Given the description of an element on the screen output the (x, y) to click on. 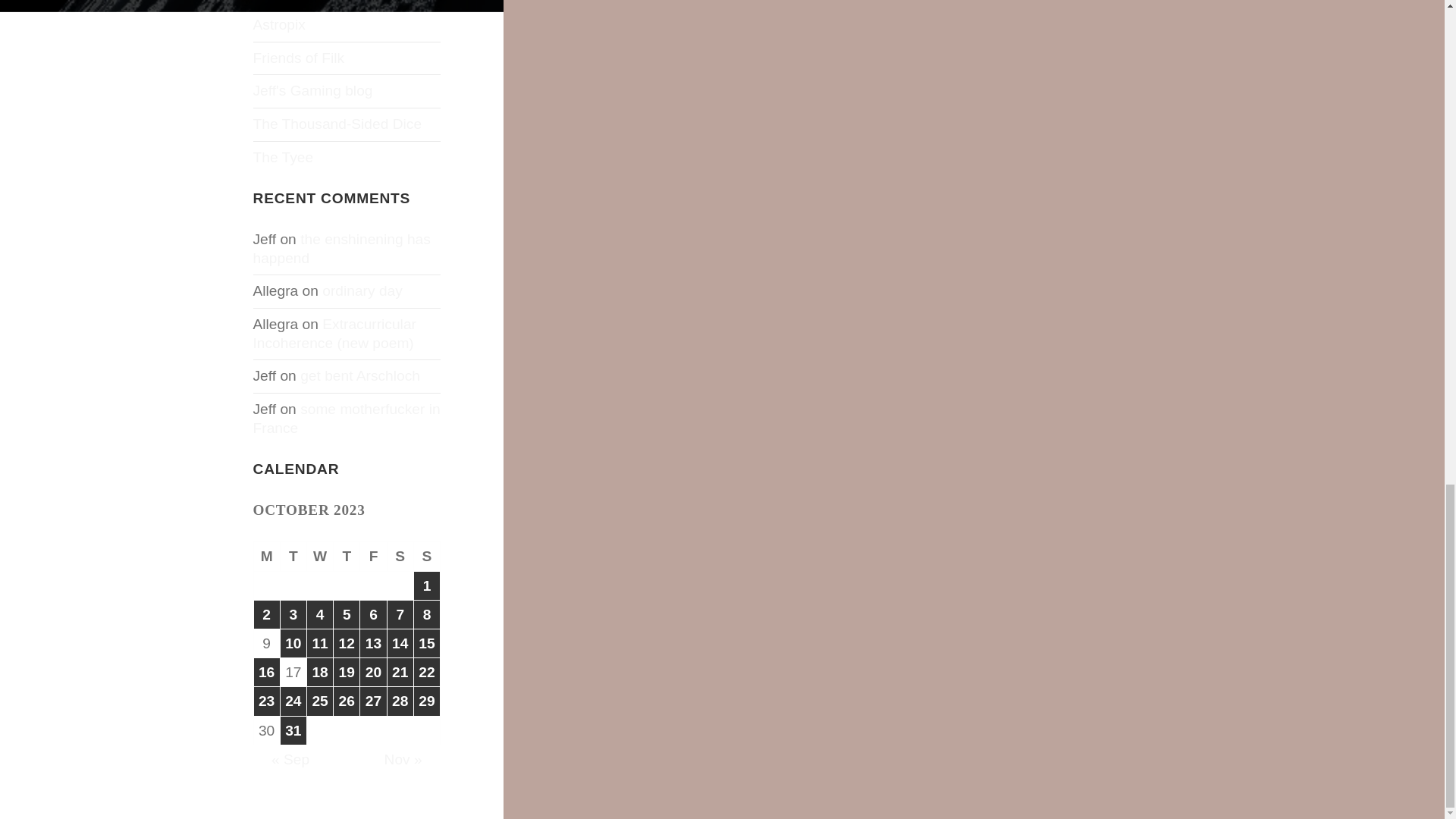
8 (426, 614)
Saturday (400, 556)
Monday (267, 556)
7 (400, 614)
ordinary day (362, 290)
the enshinening has happend (341, 248)
Astropix (279, 24)
The Tyee (283, 157)
1 (426, 585)
20 (372, 672)
13 (372, 643)
18 (320, 672)
19 (346, 672)
Thursday (346, 556)
